Given the description of an element on the screen output the (x, y) to click on. 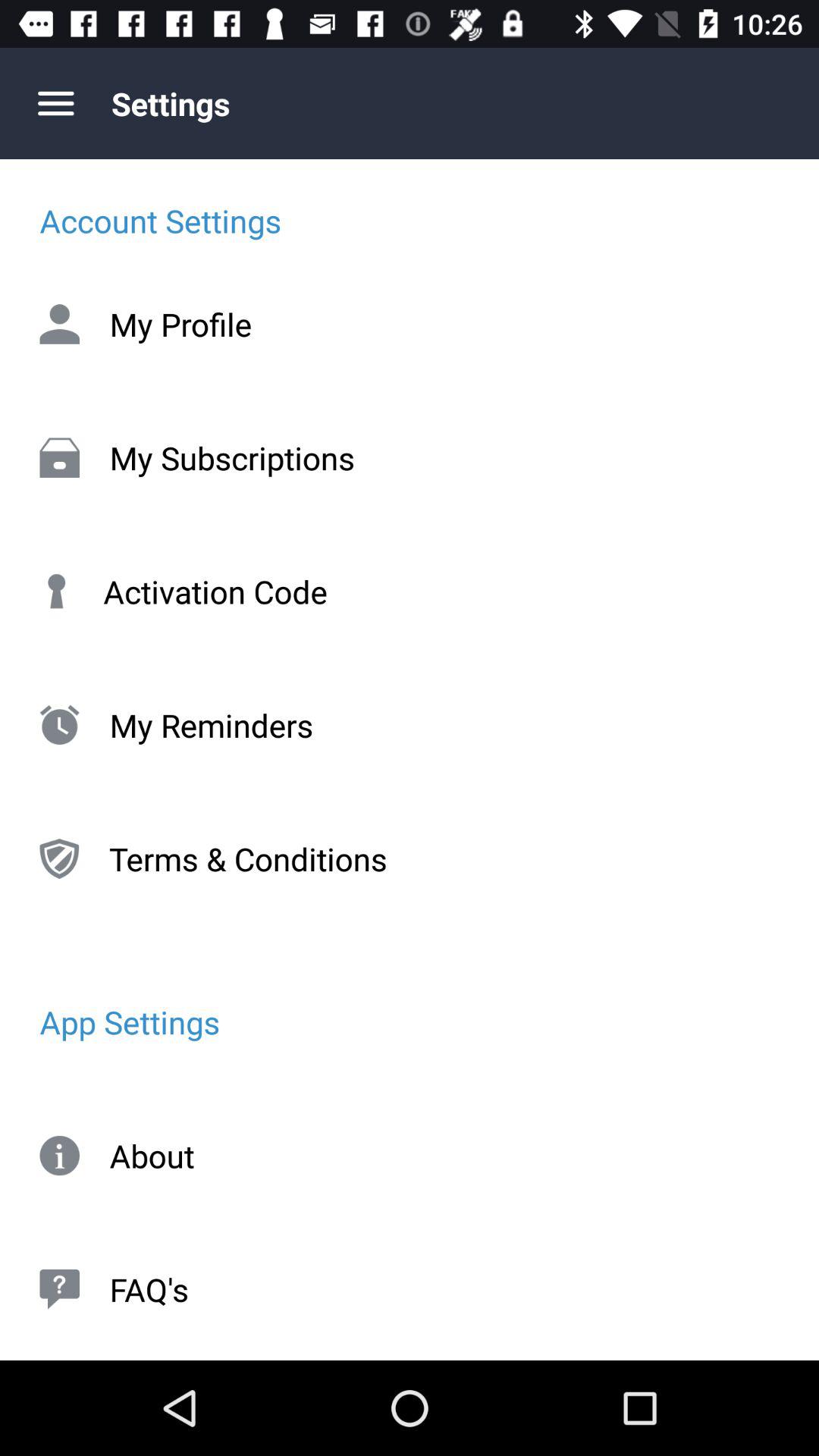
turn off the item to the left of settings (55, 103)
